Given the description of an element on the screen output the (x, y) to click on. 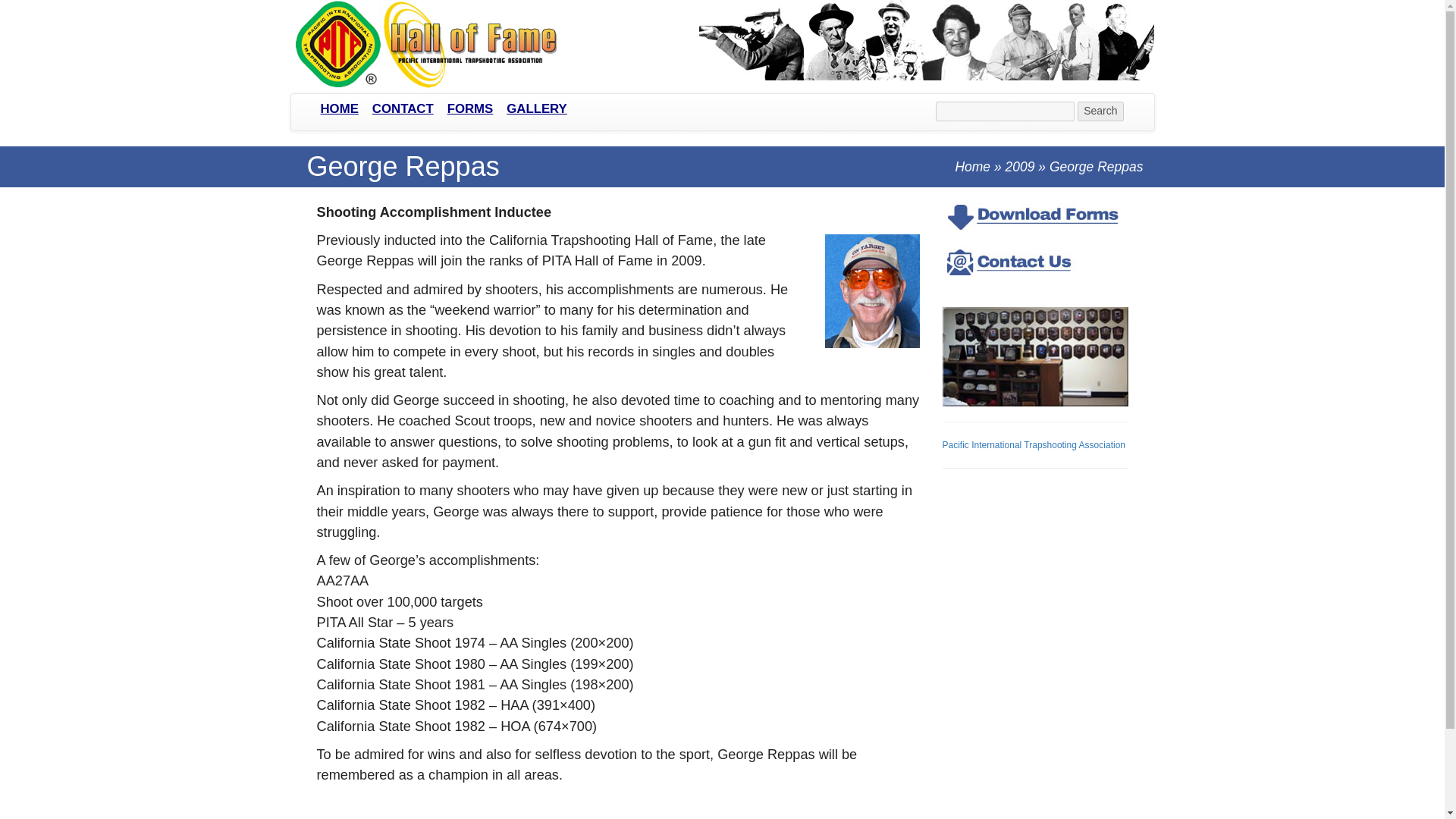
Contact (403, 109)
Forms (470, 109)
FORMS (470, 109)
Pacific International Trapshooting Association (1033, 444)
GALLERY (536, 109)
Search (1099, 111)
CONTACT (403, 109)
2009 (1020, 166)
Gallery (536, 109)
Home (972, 166)
